Given the description of an element on the screen output the (x, y) to click on. 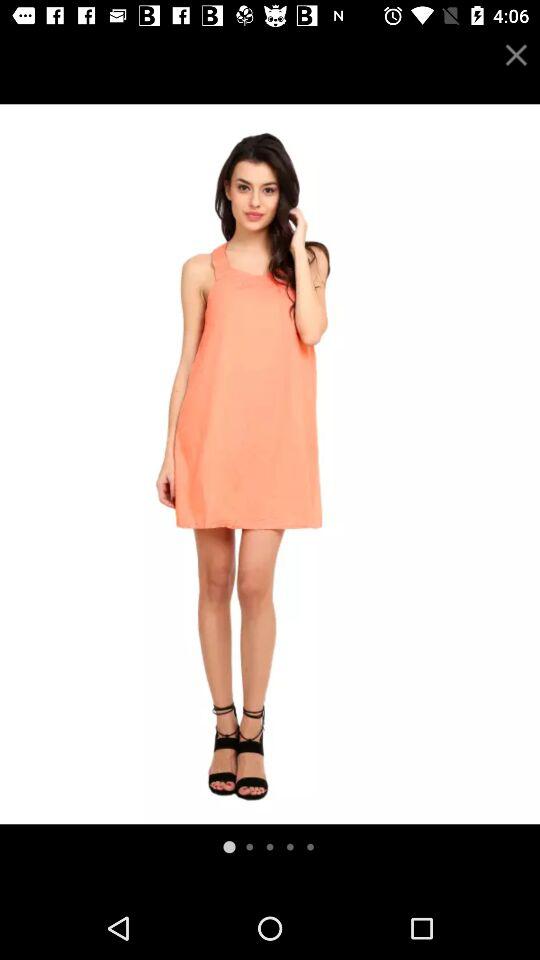
press item at the top right corner (516, 54)
